Given the description of an element on the screen output the (x, y) to click on. 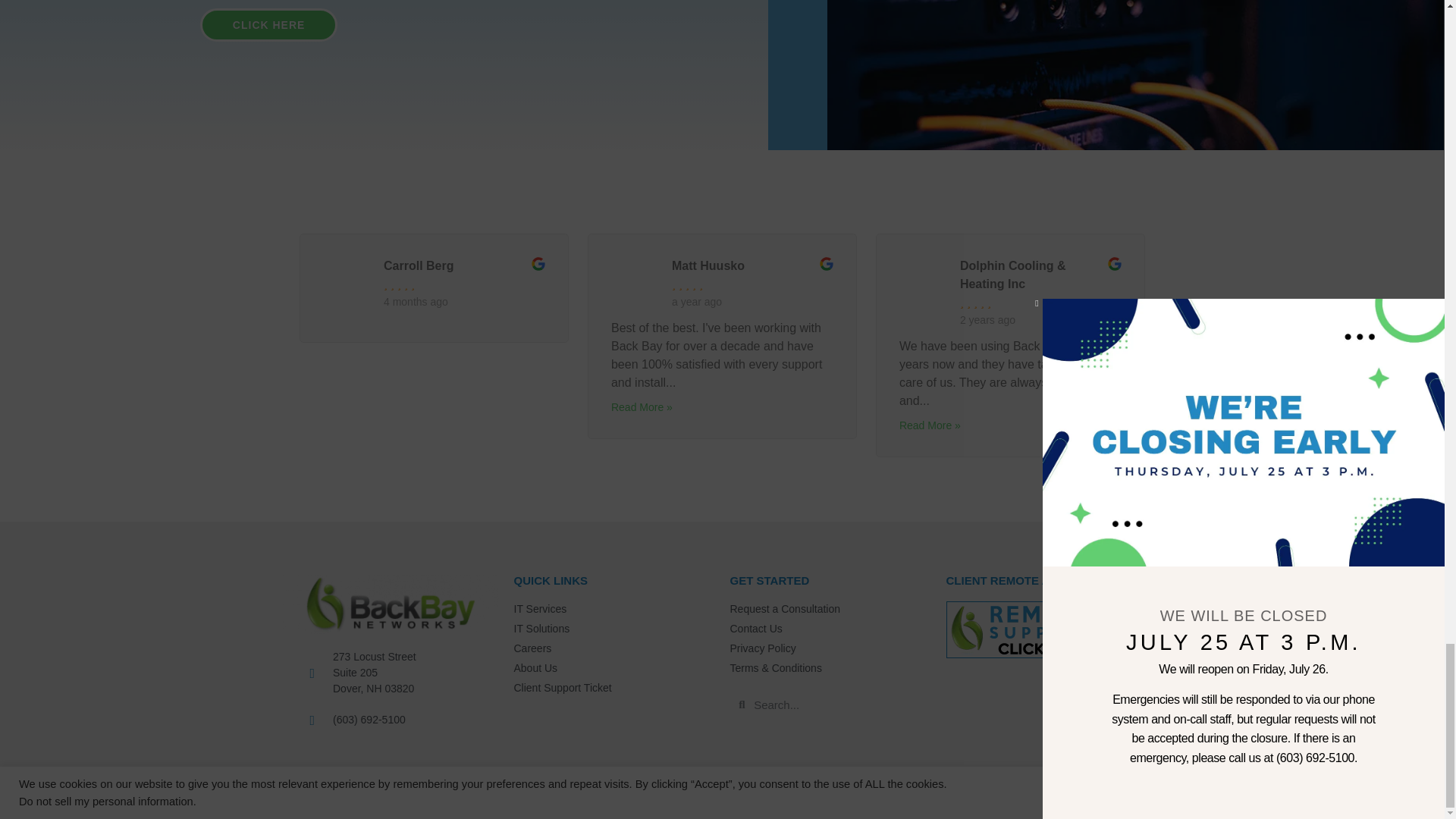
CLICK HERE (268, 24)
